Given the description of an element on the screen output the (x, y) to click on. 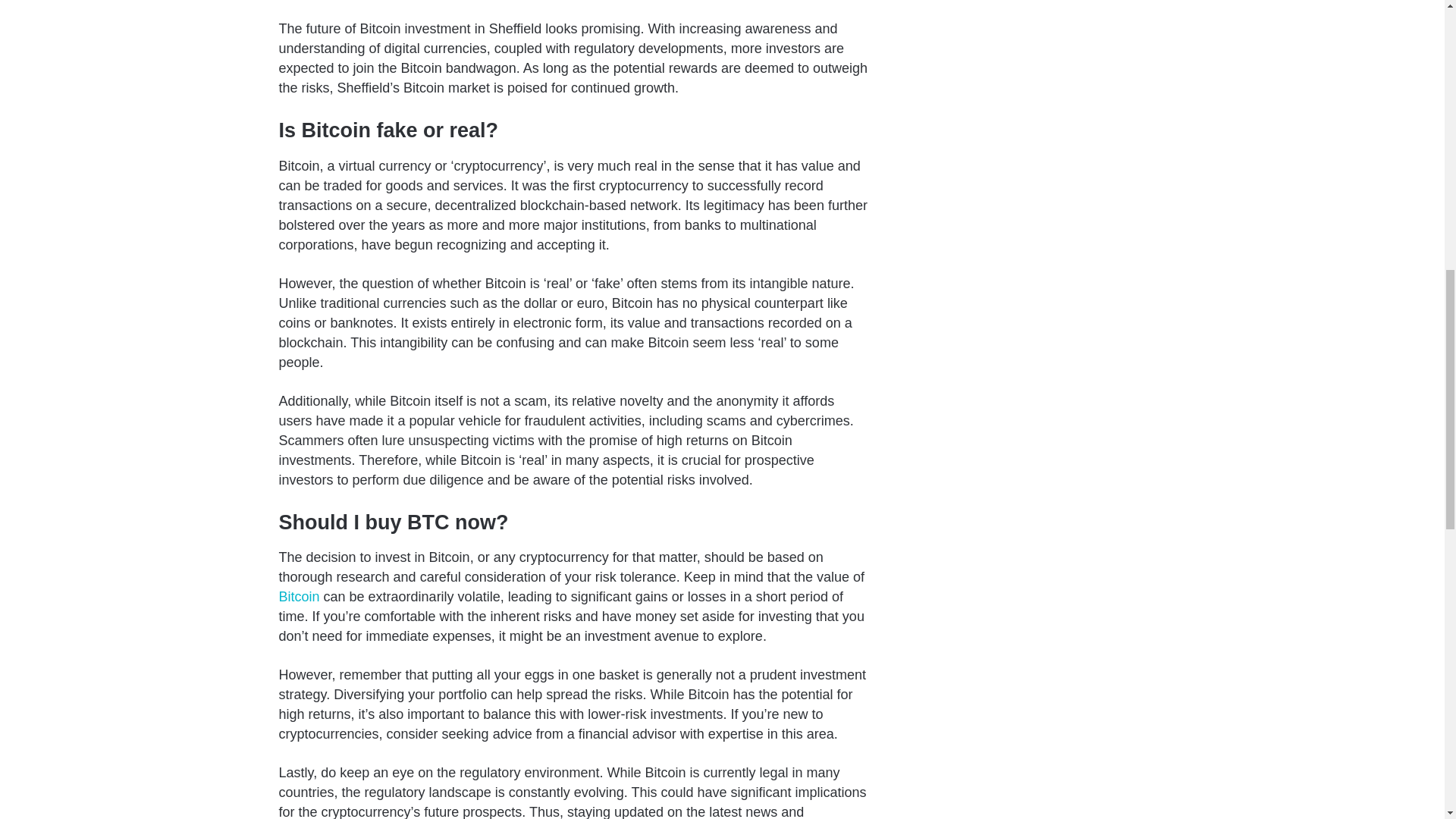
Bitcoin (299, 596)
